Given the description of an element on the screen output the (x, y) to click on. 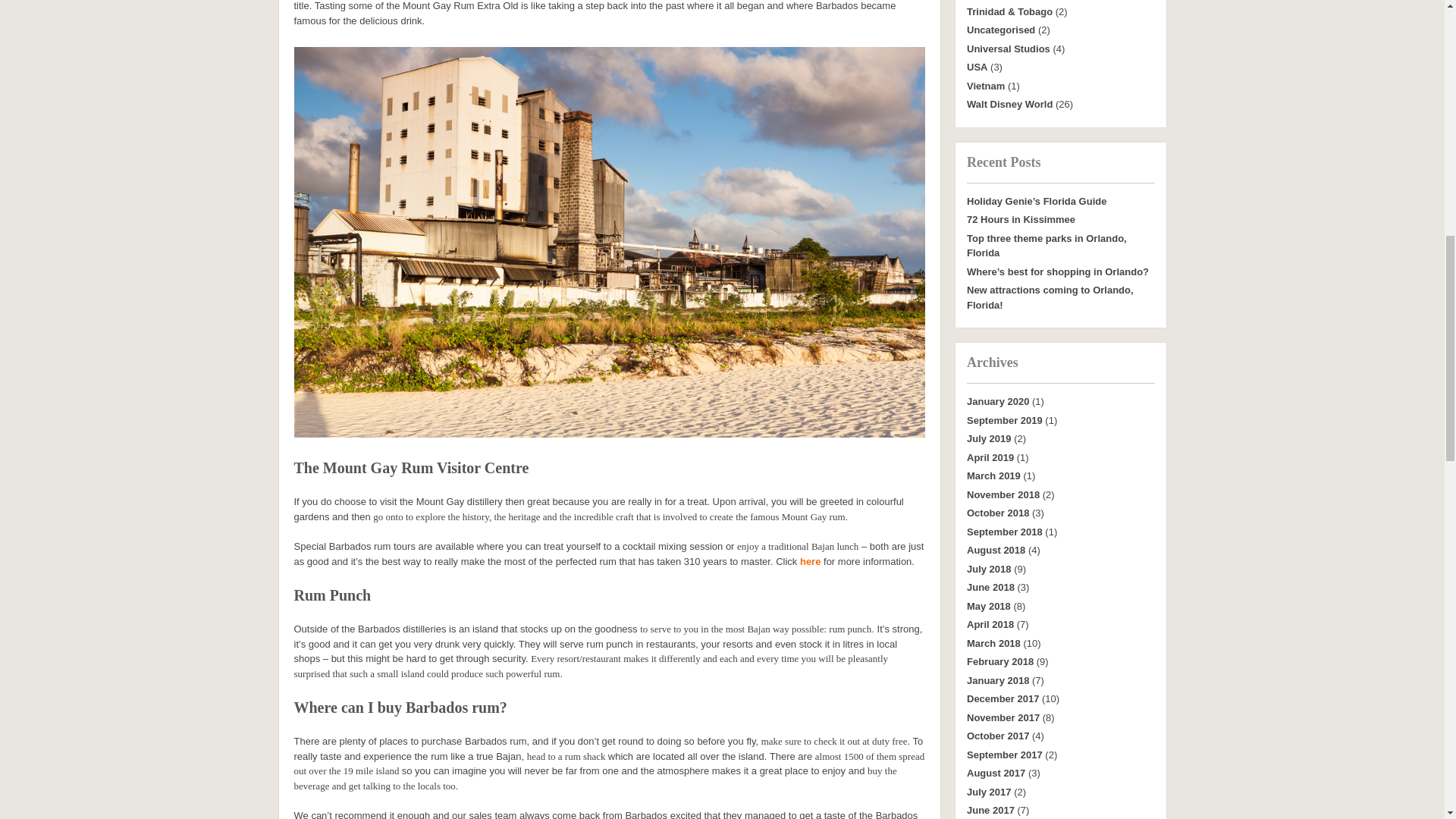
here (810, 561)
